Given the description of an element on the screen output the (x, y) to click on. 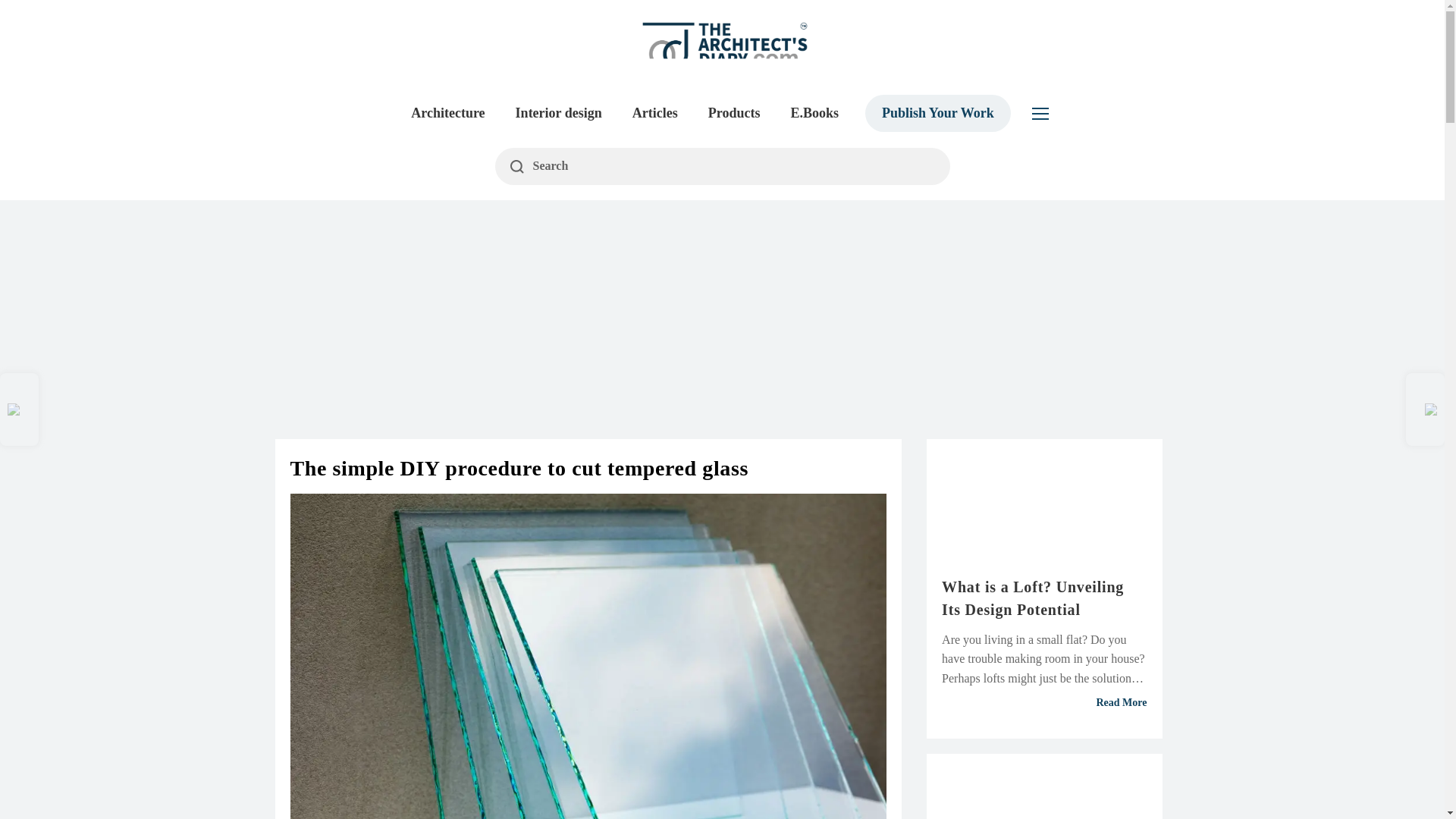
Articles (655, 113)
Architecture (447, 113)
Products (734, 113)
Publish Your Work (937, 113)
Read More (1044, 702)
E.Books (813, 113)
What is a Loft? Unveiling Its Design Potential (1044, 597)
search (722, 166)
Interior design (558, 113)
